Given the description of an element on the screen output the (x, y) to click on. 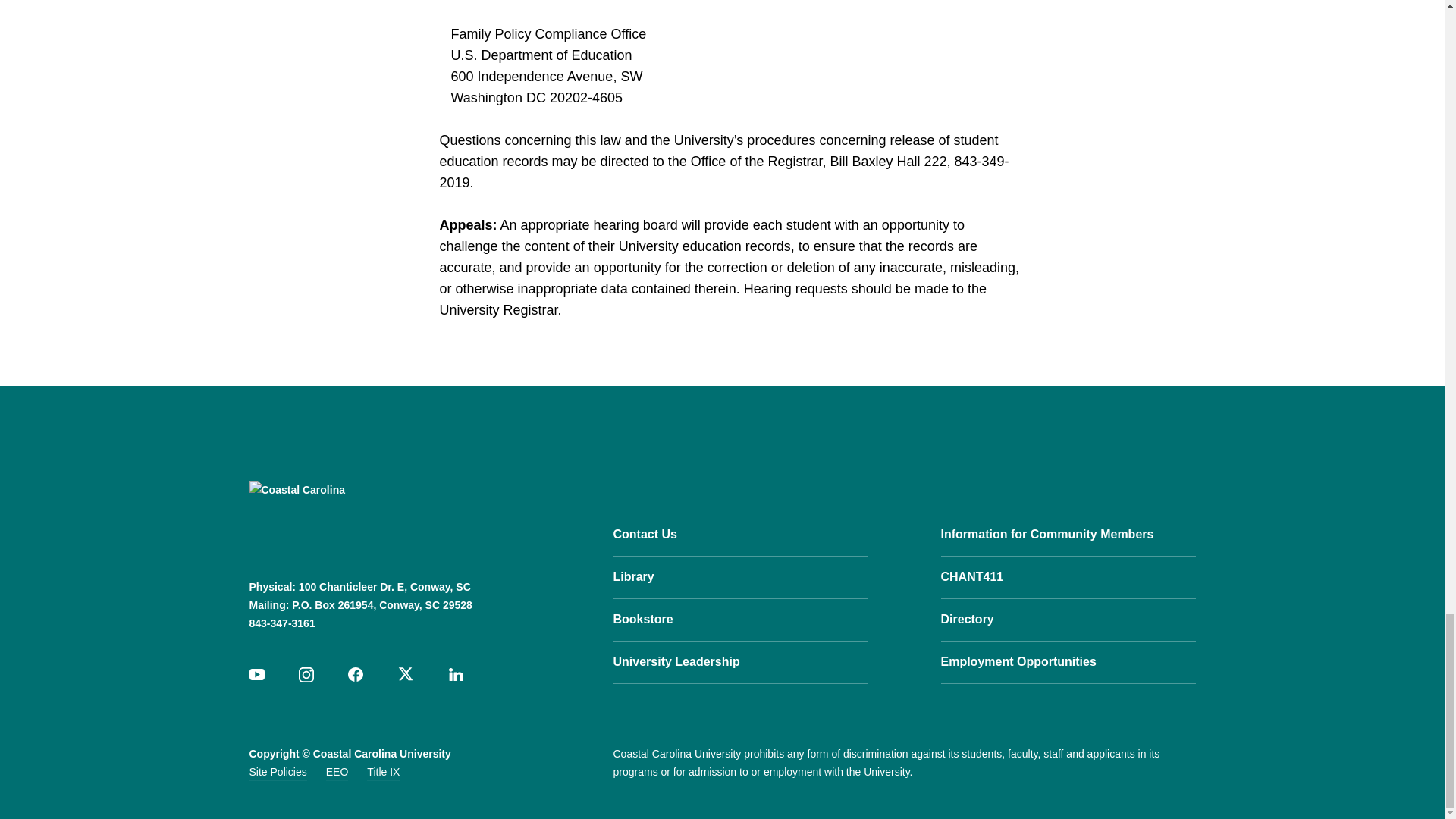
Link to Coastal Carolina University Library (739, 577)
Link to CCU Bookstore (739, 619)
Coastal Carolina (344, 517)
